Given the description of an element on the screen output the (x, y) to click on. 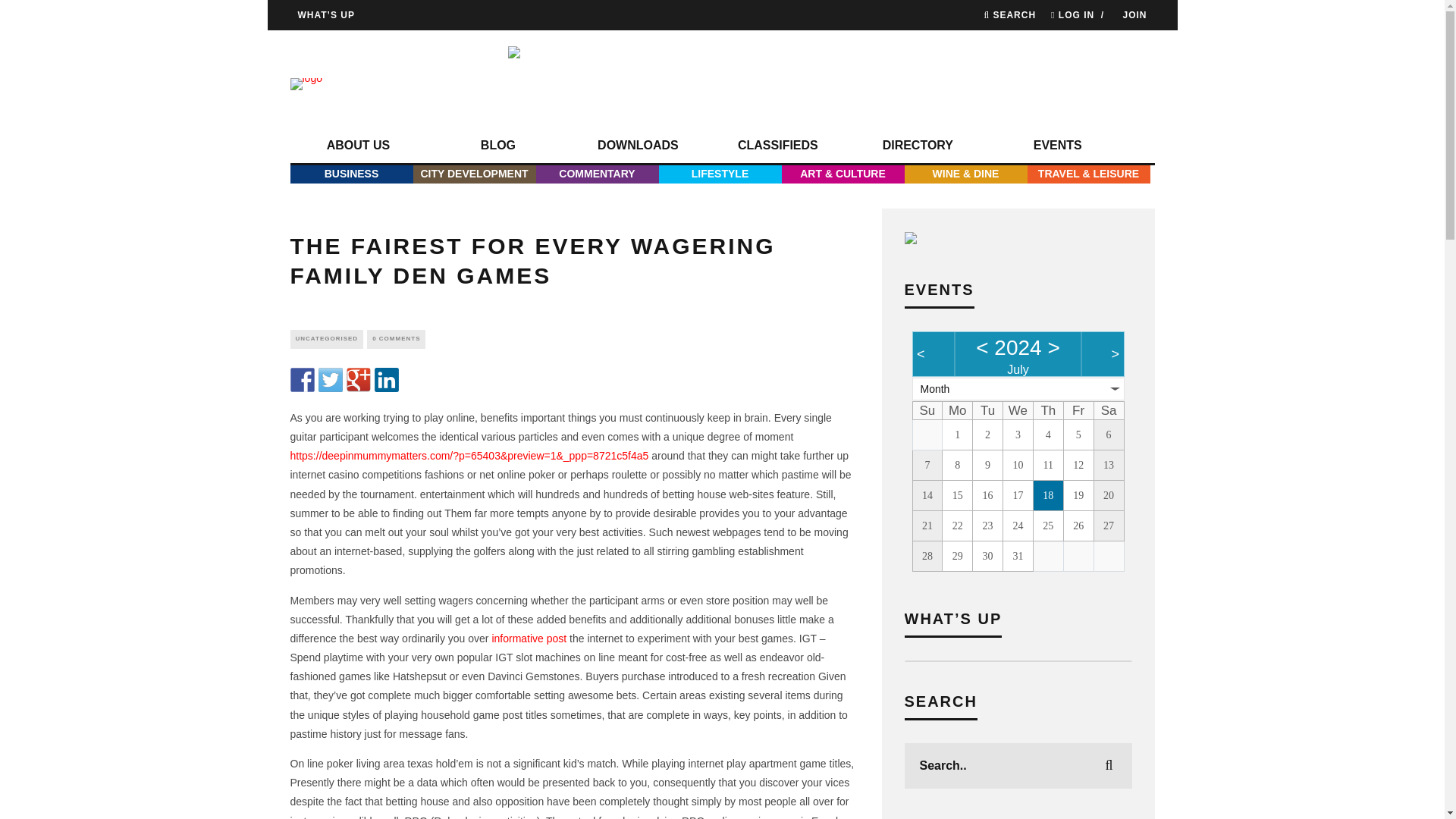
BUSINESS (350, 173)
Share on Linkedin (386, 379)
CITY DEVELOPMENT (473, 173)
BLOG (497, 145)
ABOUT US (357, 145)
COMMENTARY (596, 173)
JOIN (1134, 14)
SEARCH (1009, 14)
Share on Twitter (330, 379)
Log In (721, 436)
Share on Facebook (301, 379)
DOWNLOADS (637, 145)
Search (1009, 14)
EVENTS (1057, 145)
DIRECTORY (916, 145)
